Given the description of an element on the screen output the (x, y) to click on. 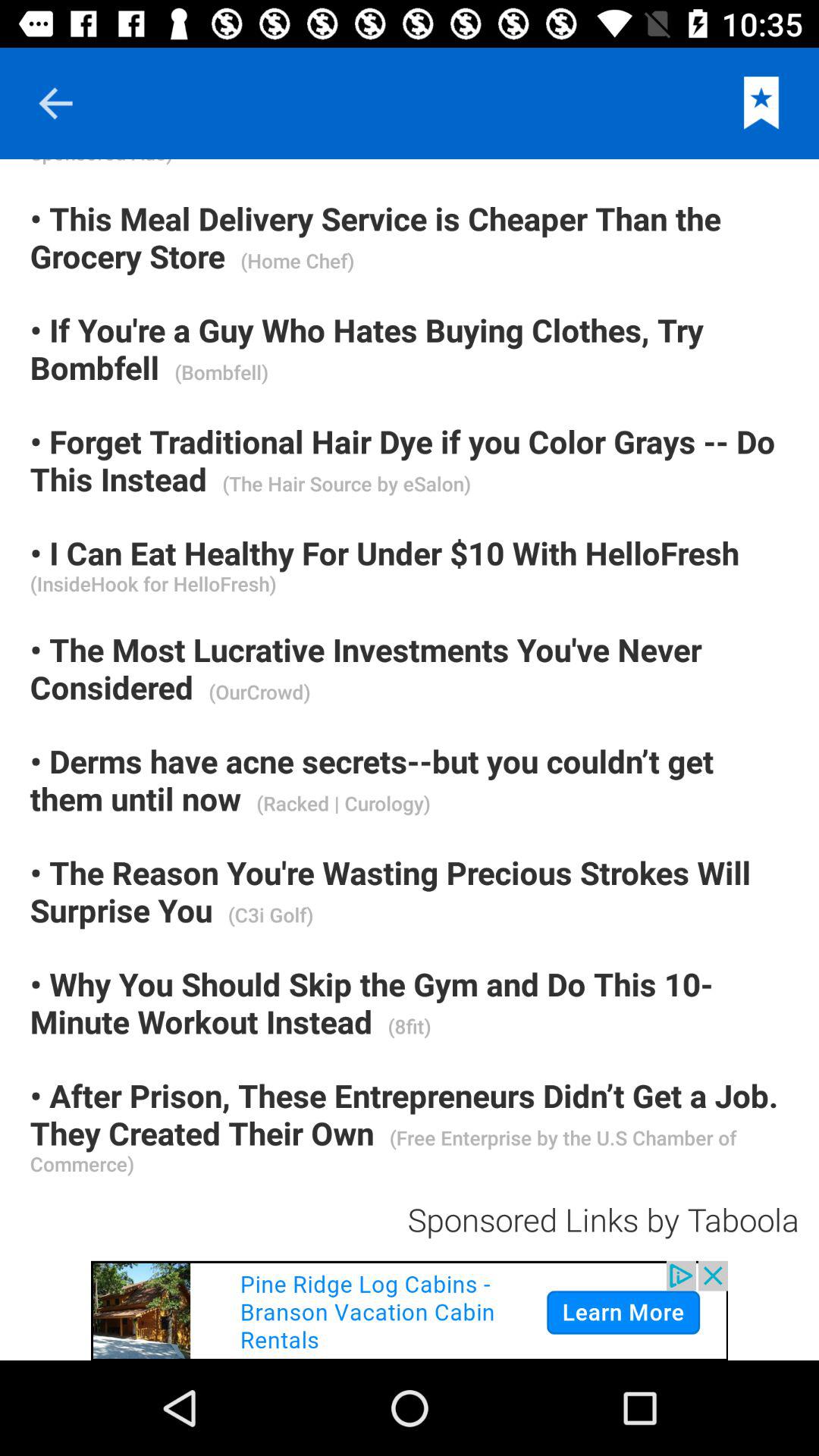
go back (55, 103)
